Given the description of an element on the screen output the (x, y) to click on. 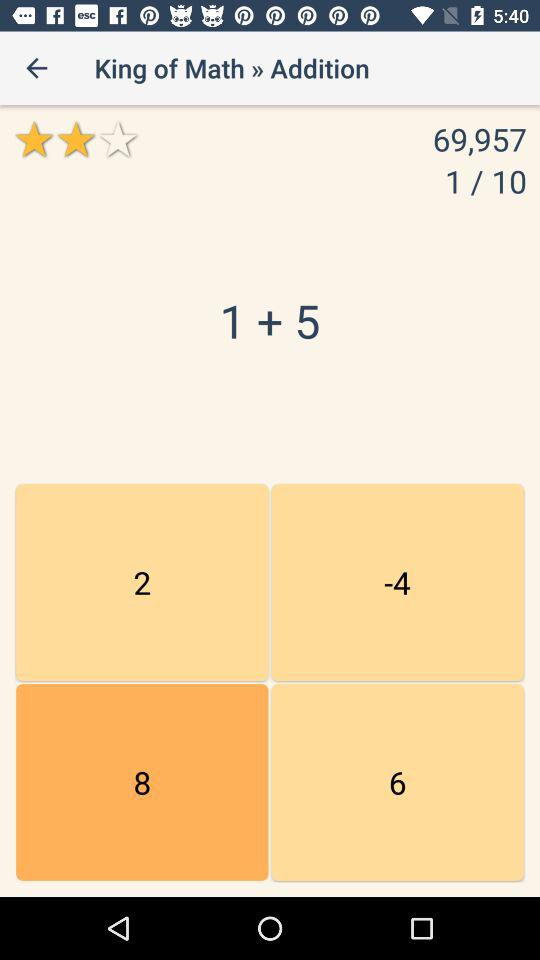
flip to 16 item (397, 781)
